Given the description of an element on the screen output the (x, y) to click on. 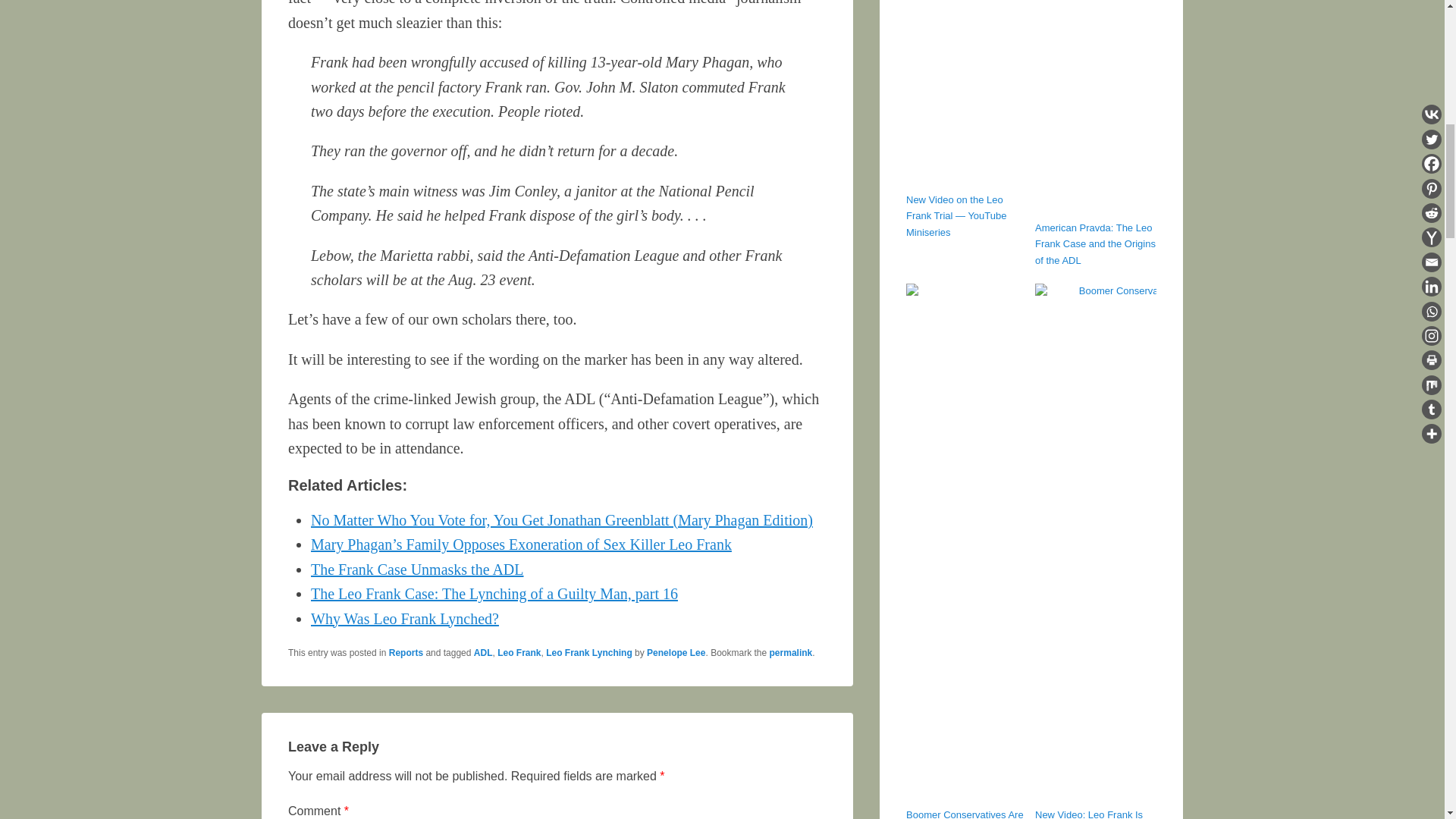
The Leo Frank Case: The Lynching of a Guilty Man, part 16 (494, 593)
Why Was Leo Frank Lynched? (405, 617)
Reports (405, 652)
Why Was Leo Frank Lynched? (405, 617)
Penelope Lee (675, 652)
The Leo Frank Case: The Lynching of a Guilty Man, part 16 (494, 593)
ADL (483, 652)
The Frank Case Unmasks the ADL (417, 569)
Leo Frank (518, 652)
Leo Frank Lynching (588, 652)
The Frank Case Unmasks the ADL (417, 569)
